Given the description of an element on the screen output the (x, y) to click on. 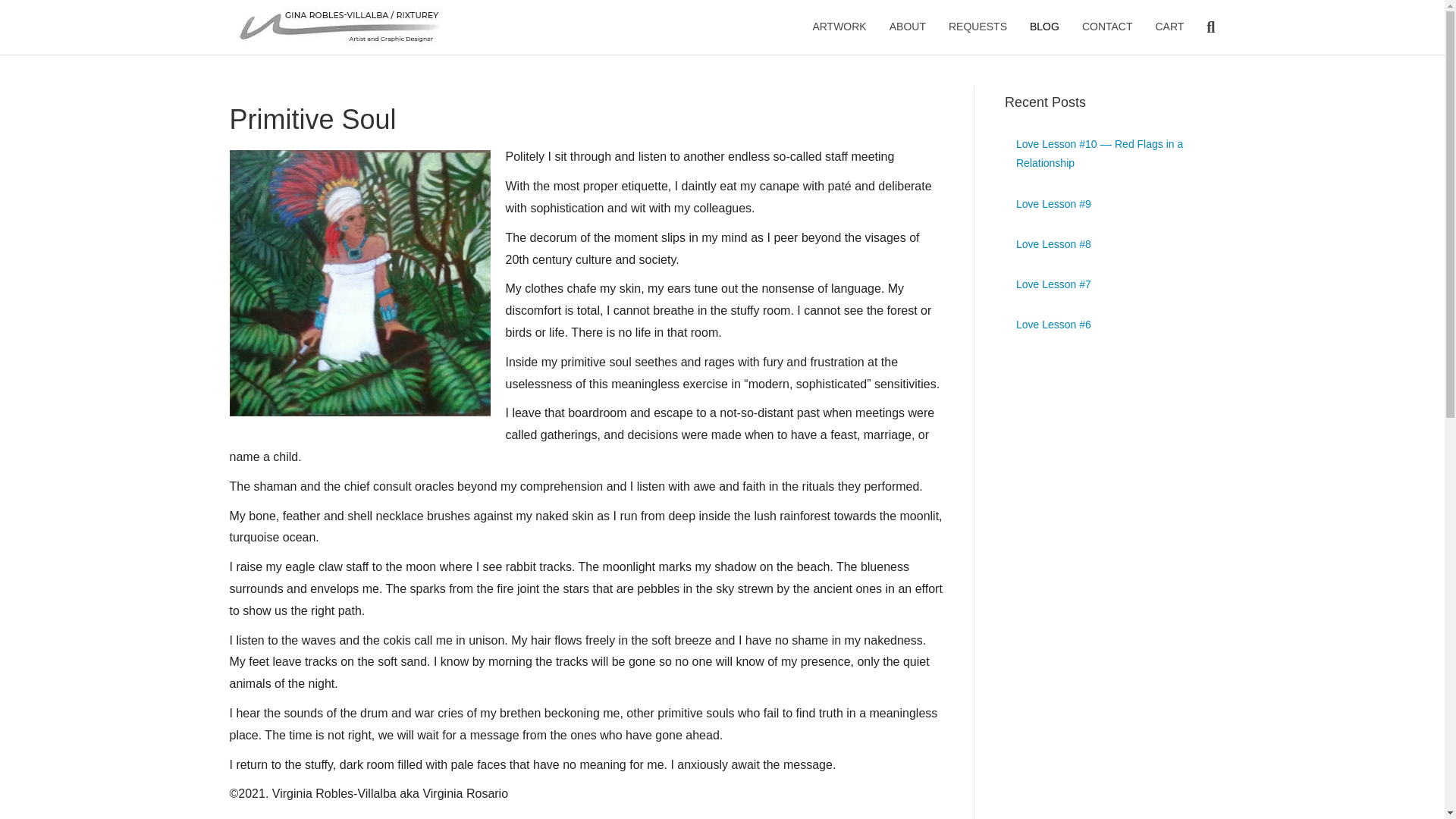
REQUESTS (977, 26)
CART (1168, 26)
BLOG (1043, 26)
CONTACT (1107, 26)
ABOUT (907, 26)
ARTWORK (838, 26)
